Given the description of an element on the screen output the (x, y) to click on. 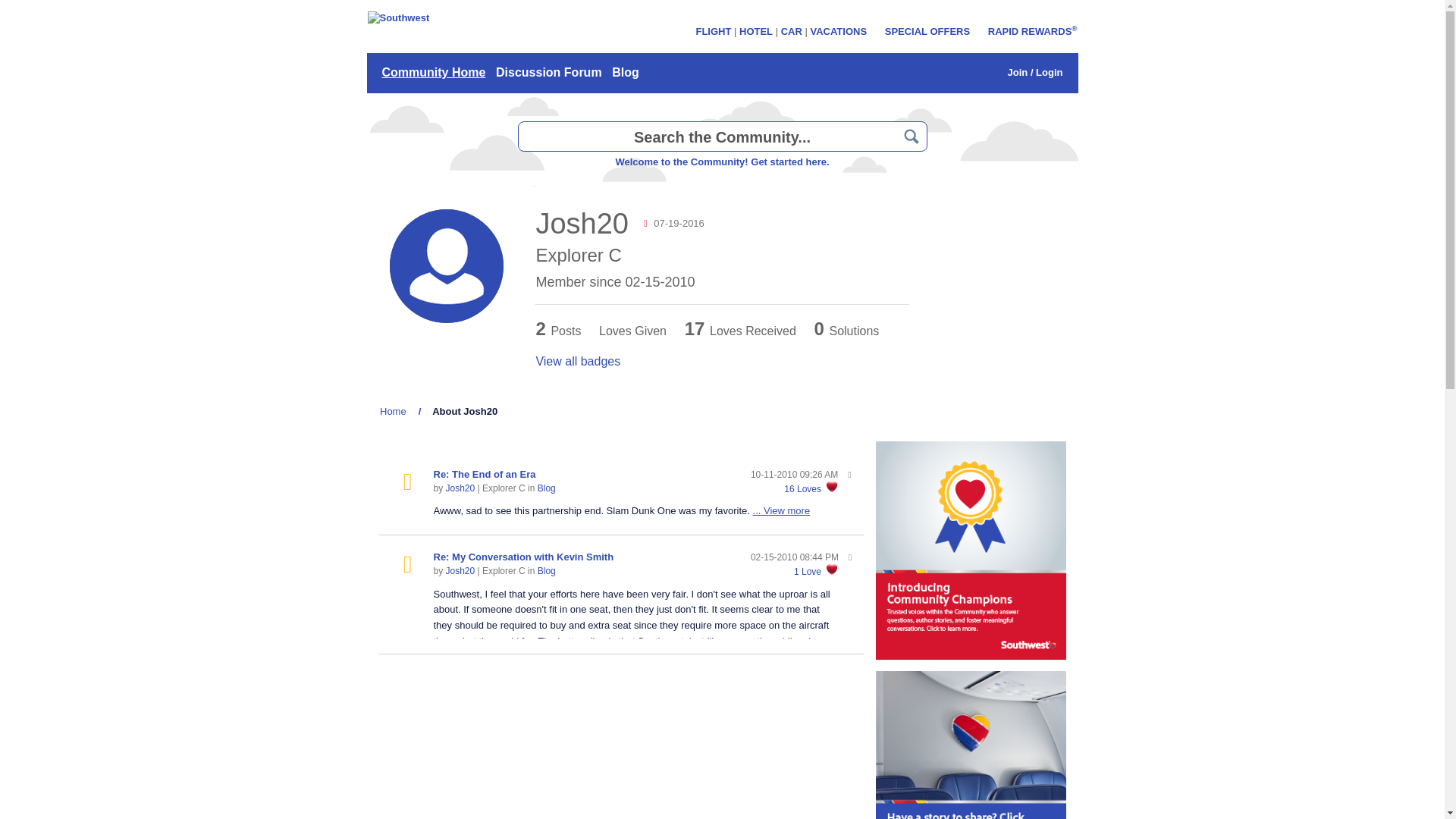
Re: The End of an Era (484, 473)
Posted on (794, 474)
Community Home (433, 73)
Blog (546, 570)
Blog Post Blog Post (407, 565)
Home (393, 410)
Welcome to the Community! Get started here. (721, 161)
Josh20 (446, 265)
... View more (781, 510)
Search (911, 136)
HOTEL (756, 30)
Blog Post Blog Post (407, 482)
Re: My Conversation with Kevin Smith (523, 556)
16 Loves (802, 489)
Josh20 (460, 488)
